Given the description of an element on the screen output the (x, y) to click on. 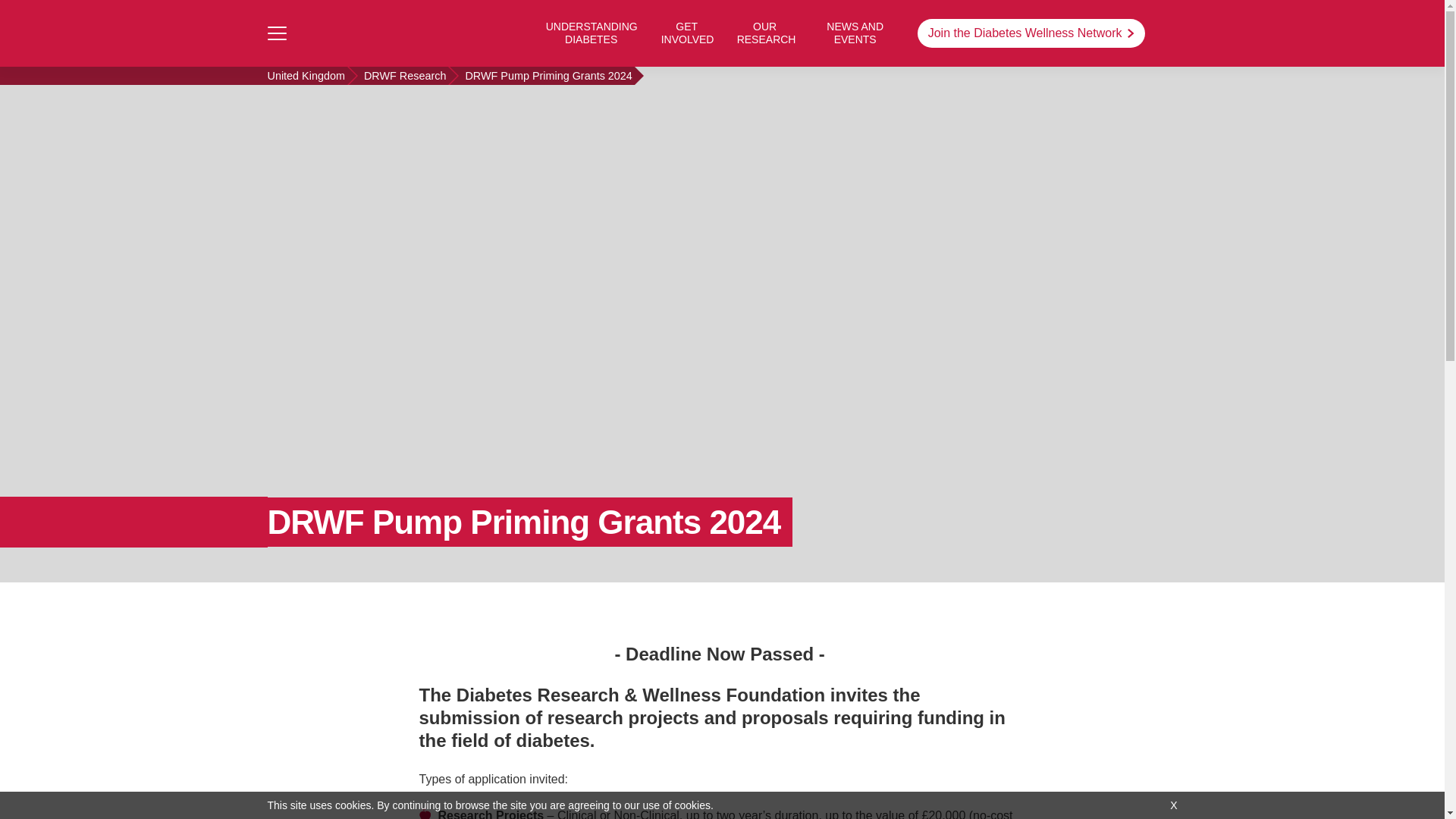
NEWS AND EVENTS (854, 32)
Join the Diabetes Wellness Network (1030, 32)
GET INVOLVED (687, 32)
UNDERSTANDING DIABETES (591, 32)
OUR RESEARCH (764, 32)
